Given the description of an element on the screen output the (x, y) to click on. 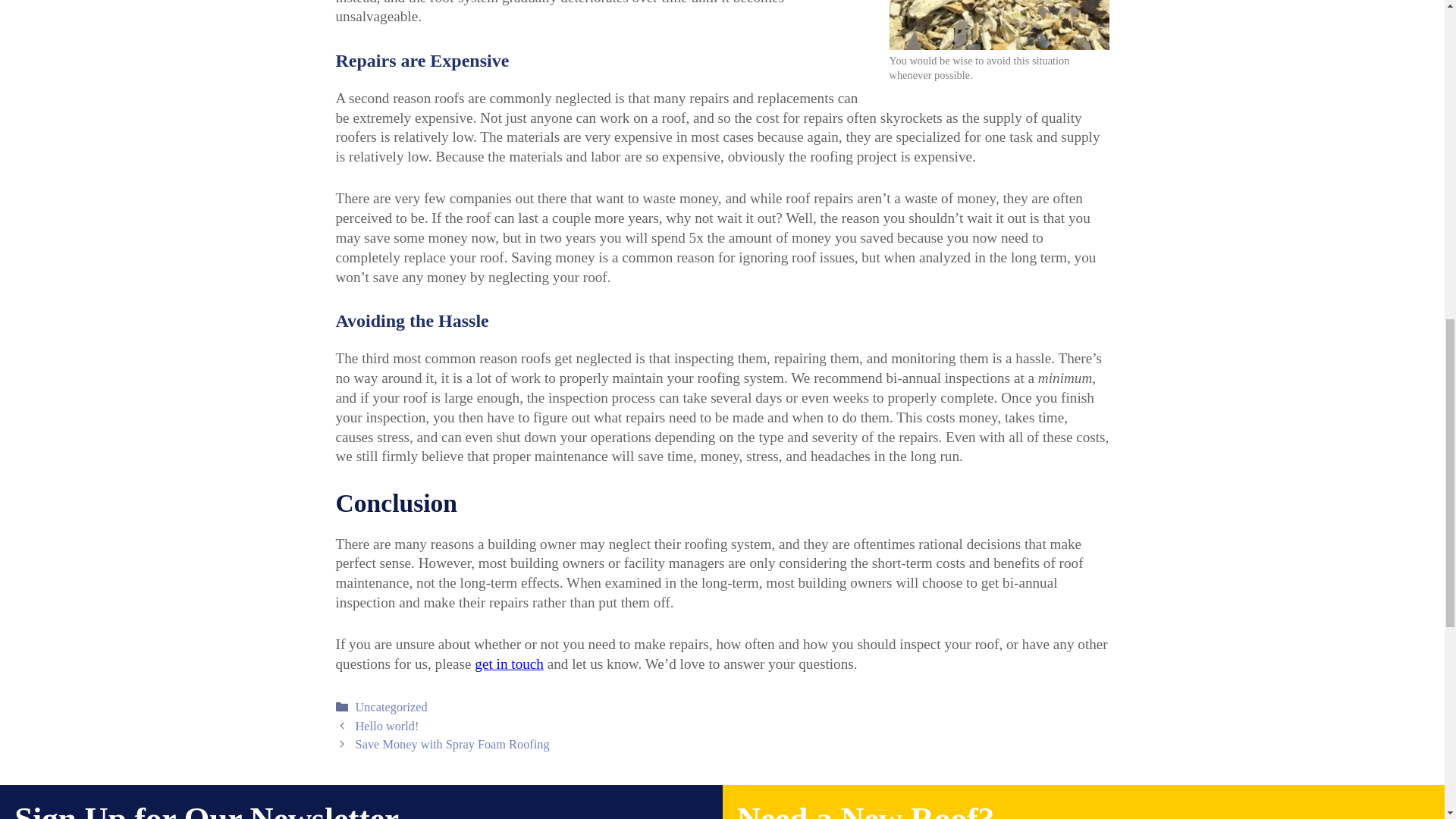
Contact Us (508, 663)
Hello world! (387, 726)
get in touch (508, 663)
Save Money with Spray Foam Roofing (452, 744)
Uncategorized (391, 707)
Scroll back to top (1406, 720)
